Given the description of an element on the screen output the (x, y) to click on. 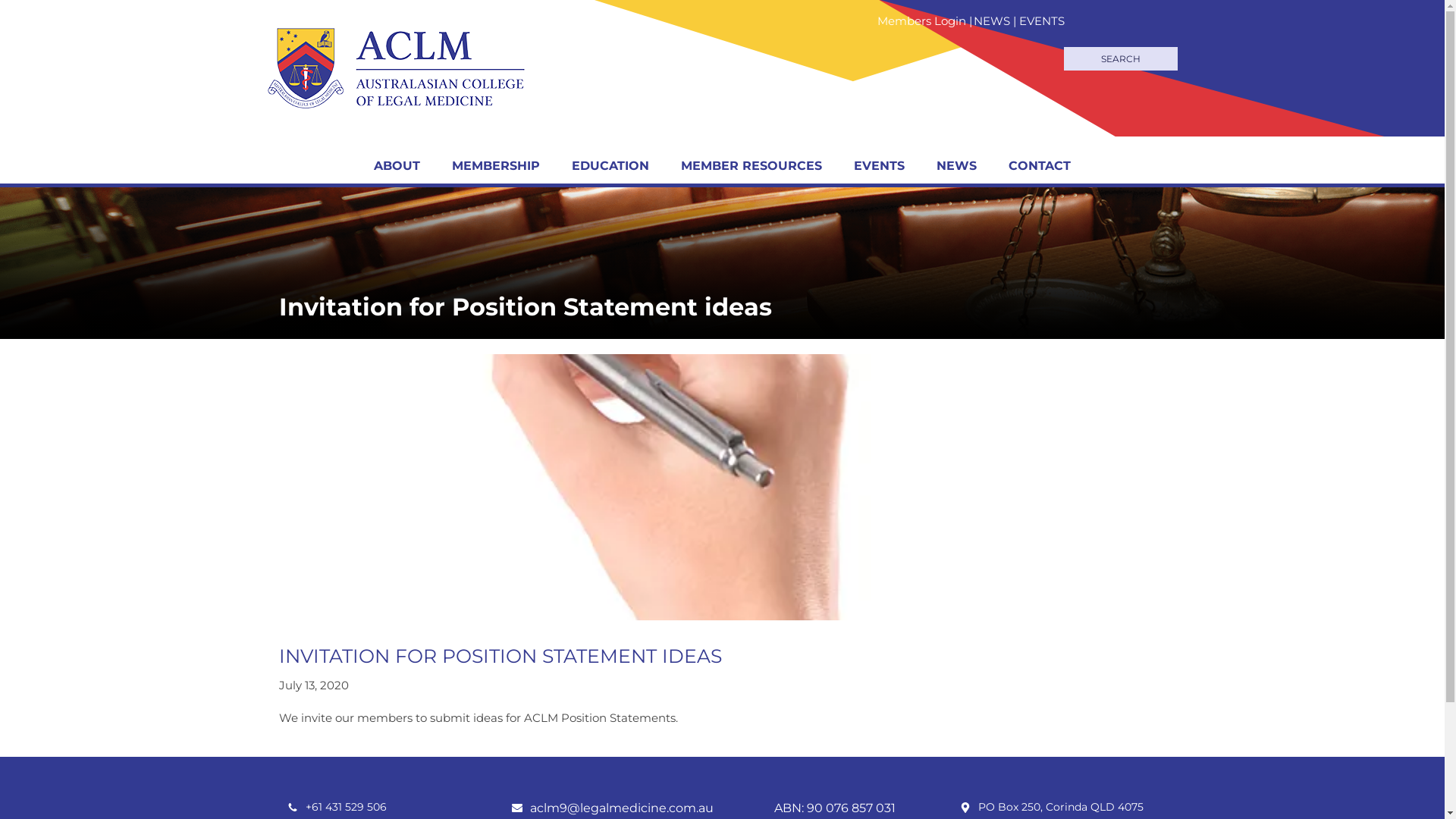
Invitation for Position Statement ideas Element type: text (525, 306)
NEWS Element type: text (956, 165)
EVENTS Element type: text (878, 165)
NEWS Element type: text (991, 20)
EDUCATION Element type: text (610, 165)
MEMBERSHIP Element type: text (495, 165)
MEMBER RESOURCES Element type: text (751, 165)
INVITATION FOR POSITION STATEMENT IDEAS Element type: text (500, 655)
Members Login | Element type: text (924, 20)
ABOUT Element type: text (396, 165)
CONTACT Element type: text (1039, 165)
EVENTS Element type: text (1041, 20)
SEARCH Element type: text (1119, 59)
